Given the description of an element on the screen output the (x, y) to click on. 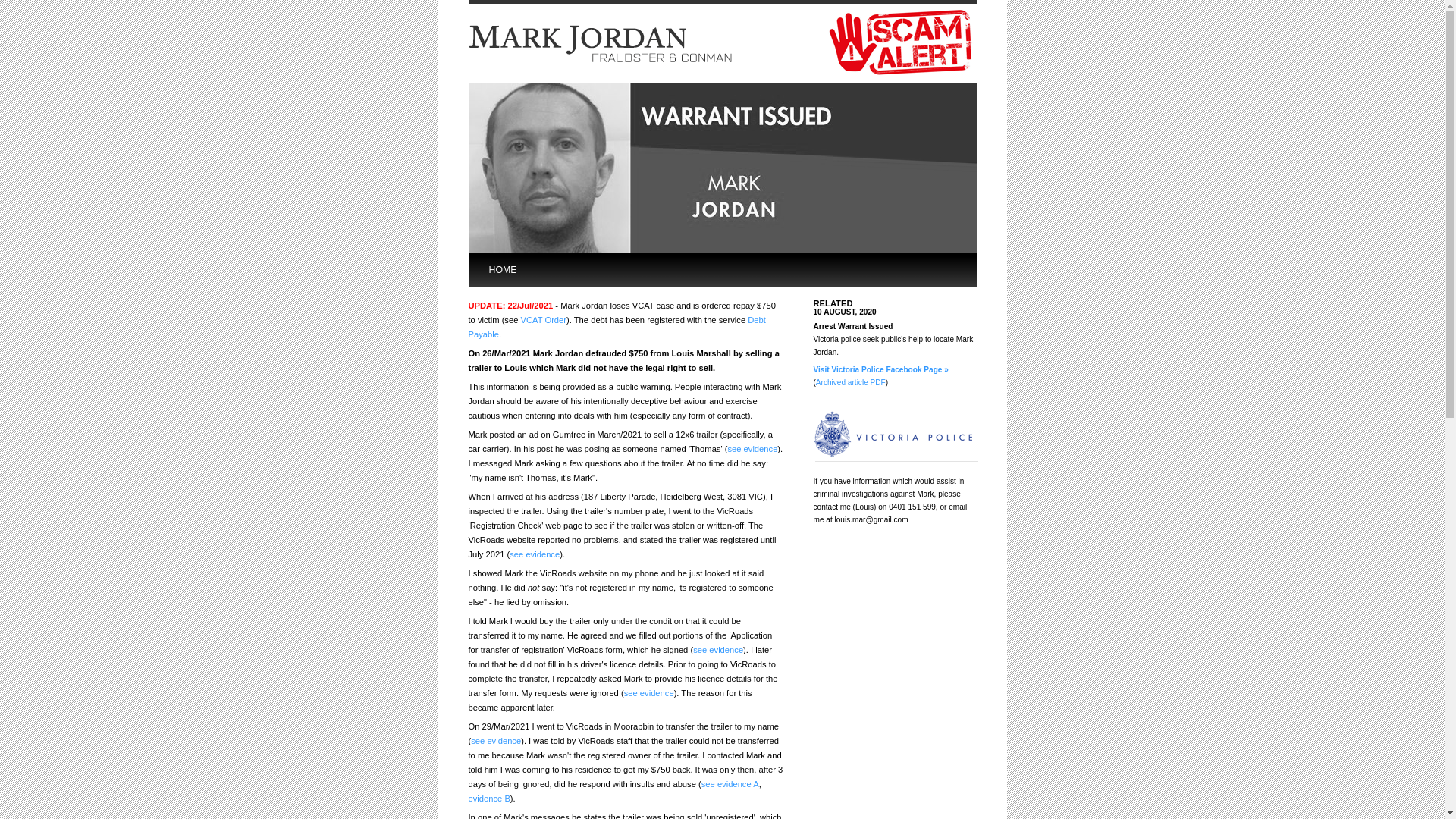
see evidence Element type: text (649, 692)
evidence B Element type: text (489, 798)
see evidence A Element type: text (730, 783)
Debt Payable Element type: text (616, 326)
see evidence Element type: text (534, 553)
see evidence Element type: text (718, 649)
see evidence Element type: text (495, 740)
see evidence Element type: text (752, 448)
HOME Element type: text (528, 269)
Archived article PDF Element type: text (850, 382)
VCAT Order Element type: text (543, 319)
